Given the description of an element on the screen output the (x, y) to click on. 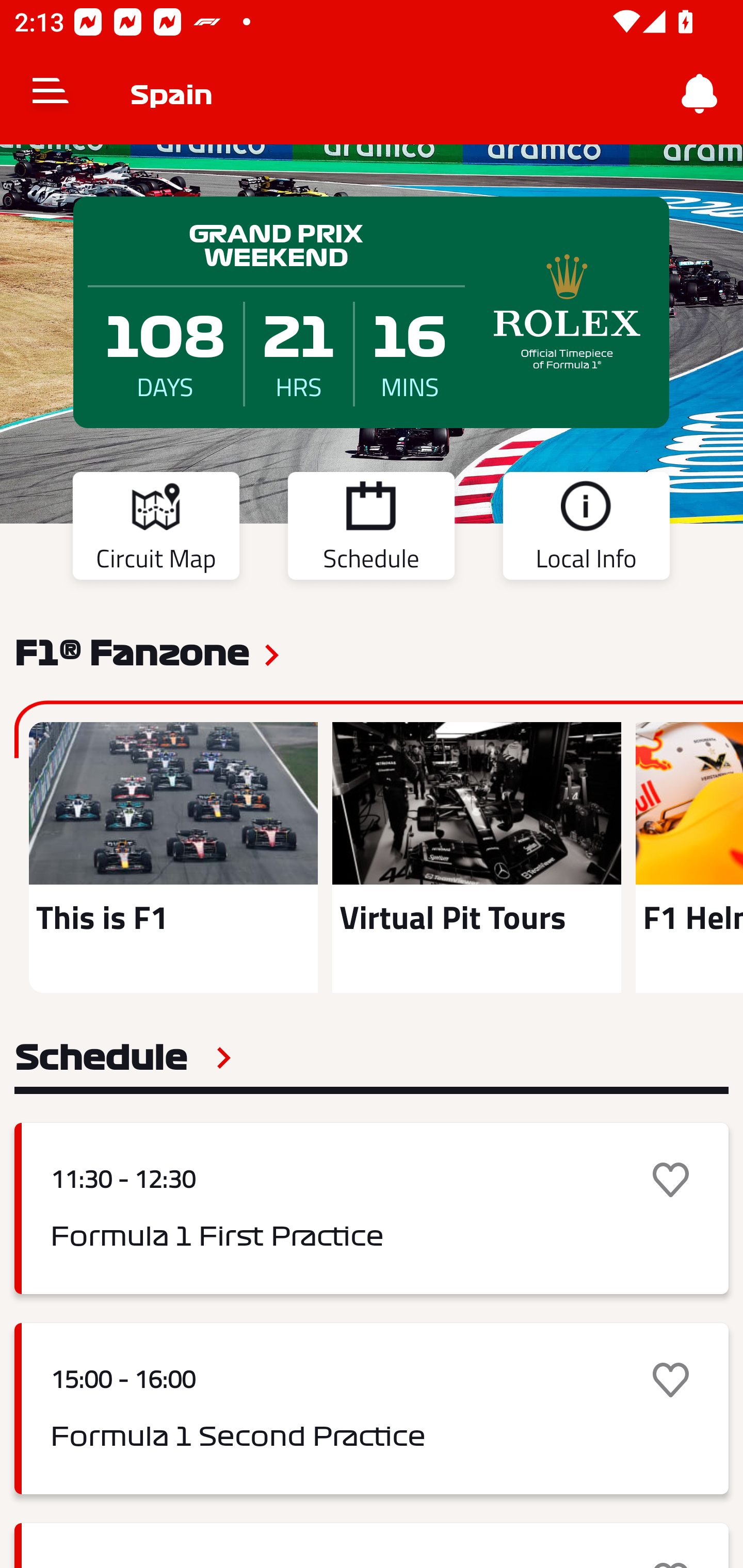
Navigate up (50, 93)
Notifications (699, 93)
Circuit Map (155, 528)
Schedule (370, 528)
Local Info (586, 528)
F1® Fanzone (131, 651)
This is F1 (173, 857)
Virtual Pit Tours (476, 857)
Schedule (122, 1057)
11:30 - 12:30 Formula 1 First Practice (371, 1207)
15:00 - 16:00 Formula 1 Second Practice (371, 1408)
